Given the description of an element on the screen output the (x, y) to click on. 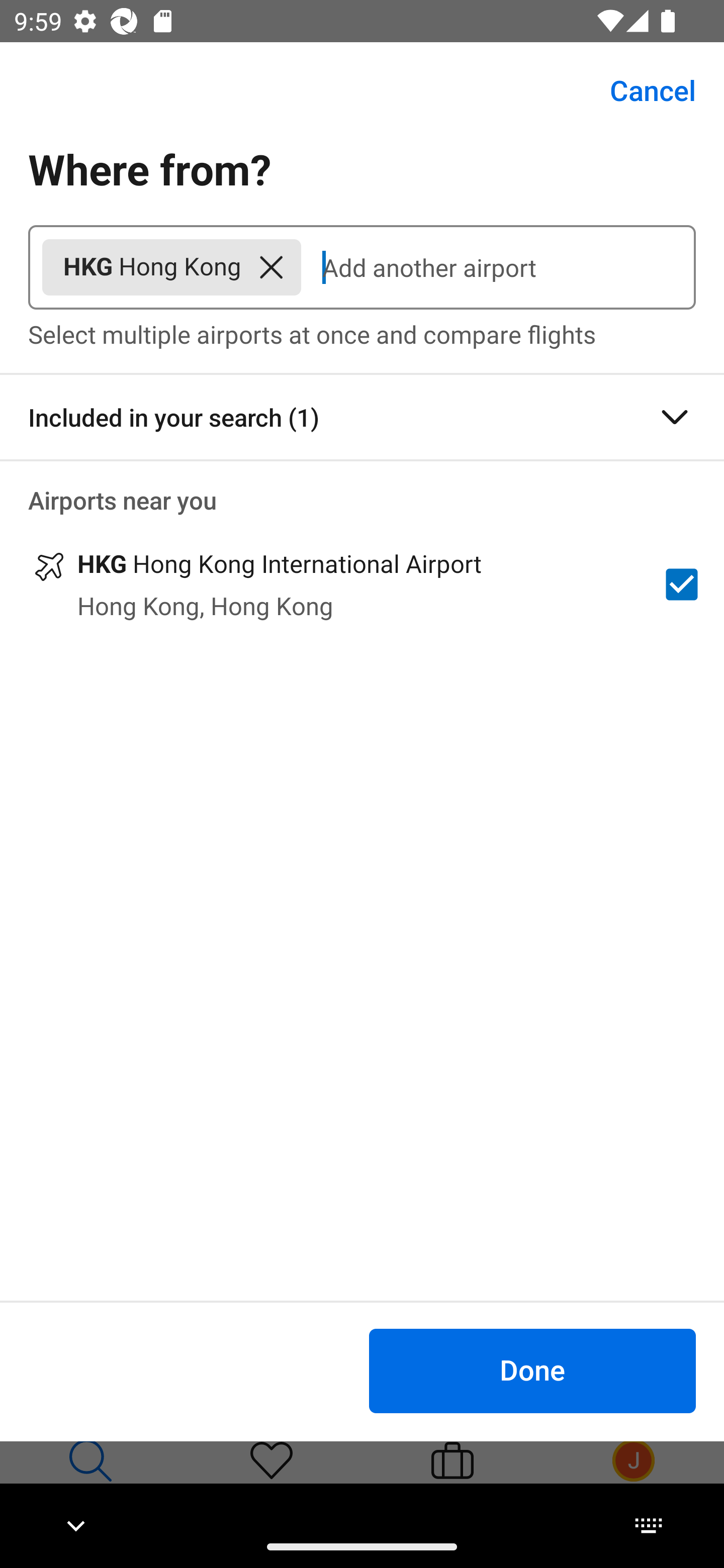
Cancel (641, 90)
Add another airport (498, 266)
HKG Hong Kong Remove HKG Hong Kong (171, 266)
Included in your search (1) (362, 416)
Done (532, 1370)
